Given the description of an element on the screen output the (x, y) to click on. 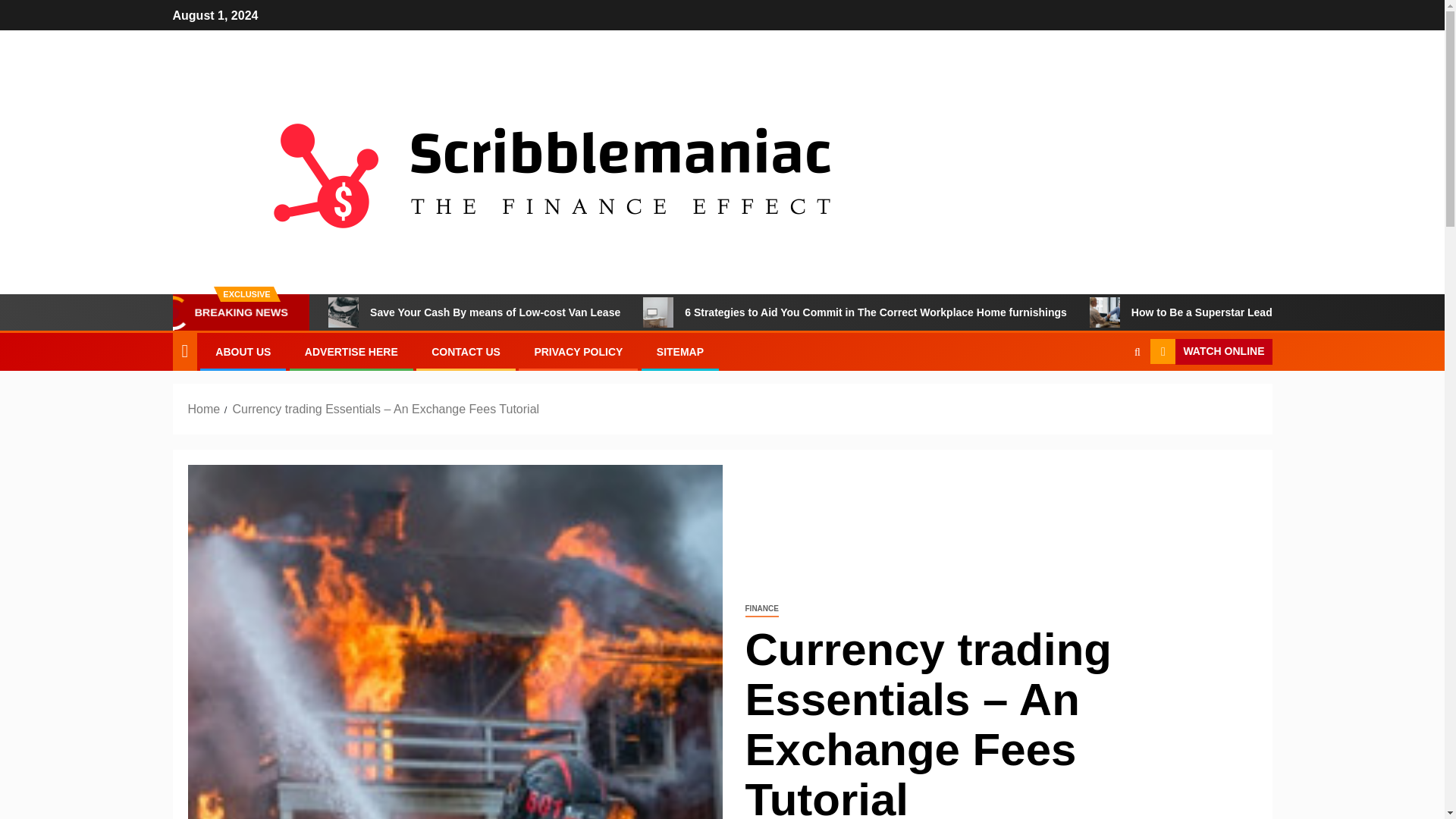
PRIVACY POLICY (578, 351)
WATCH ONLINE (1210, 351)
Search (1107, 398)
SITEMAP (679, 351)
Save Your Cash By means of Low-cost Van Lease (343, 312)
ABOUT US (242, 351)
FINANCE (760, 609)
CONTACT US (465, 351)
Save Your Cash By means of Low-cost Van Lease (474, 312)
Home (204, 408)
ADVERTISE HERE (350, 351)
